Given the description of an element on the screen output the (x, y) to click on. 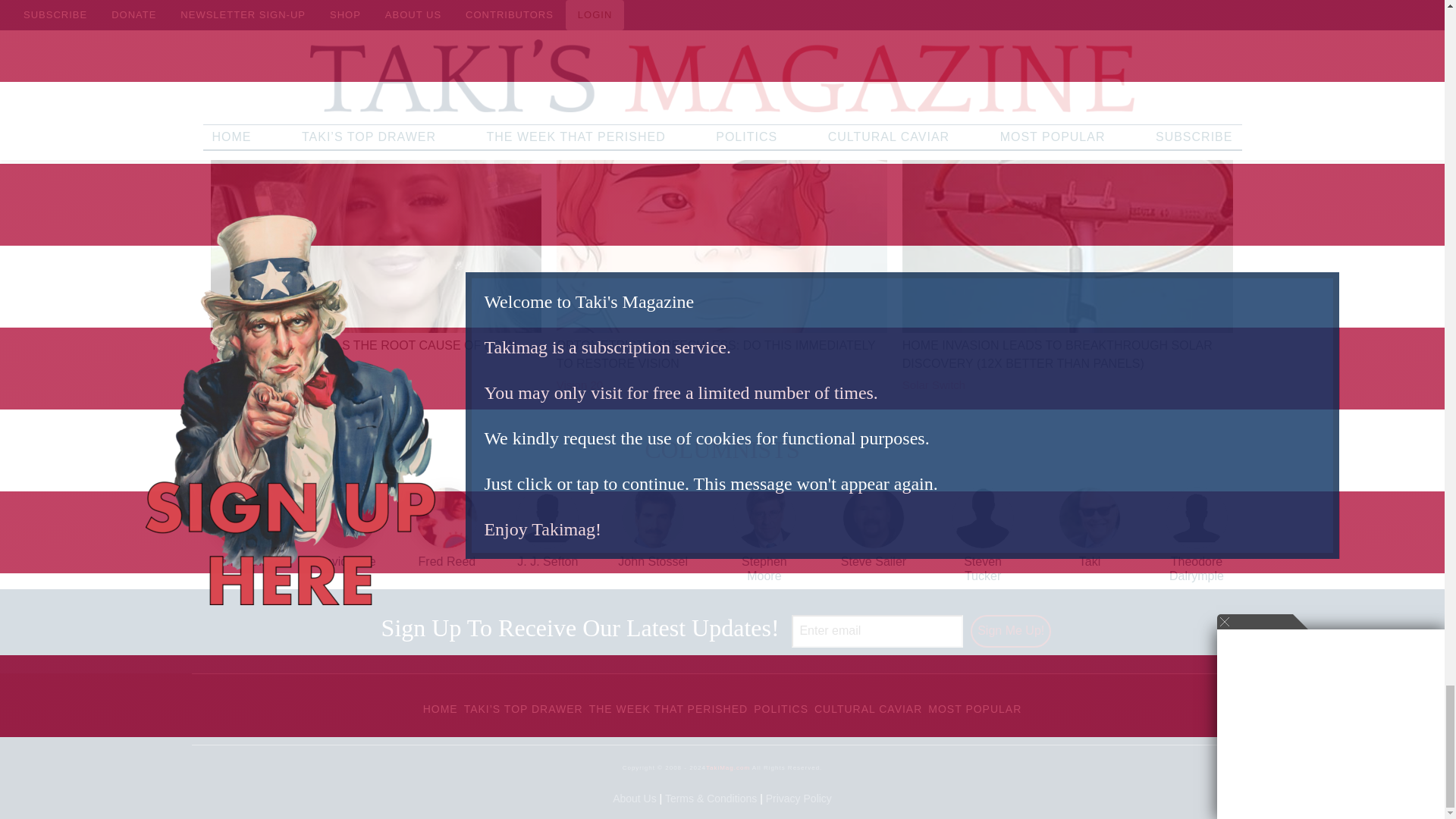
Sign Me Up! (1011, 631)
